Given the description of an element on the screen output the (x, y) to click on. 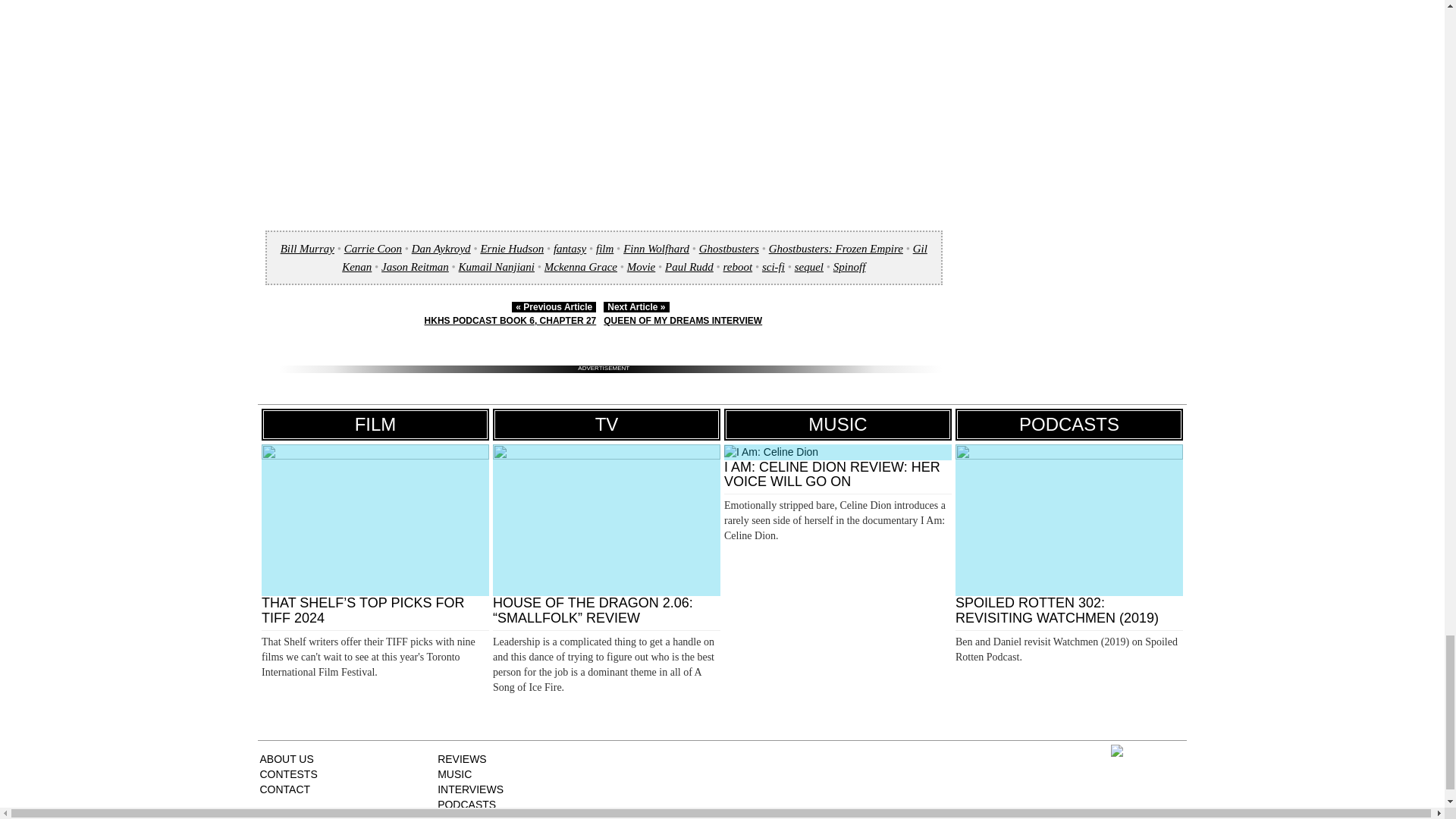
sequel (809, 266)
Ghostbusters: Frozen Empire (835, 248)
Ghostbusters (728, 248)
film (603, 248)
sci-fi (772, 266)
Gil Kenan (634, 257)
Finn Wolfhard (655, 248)
fantasy (569, 248)
YouTube player (604, 85)
Spinoff (849, 266)
